Given the description of an element on the screen output the (x, y) to click on. 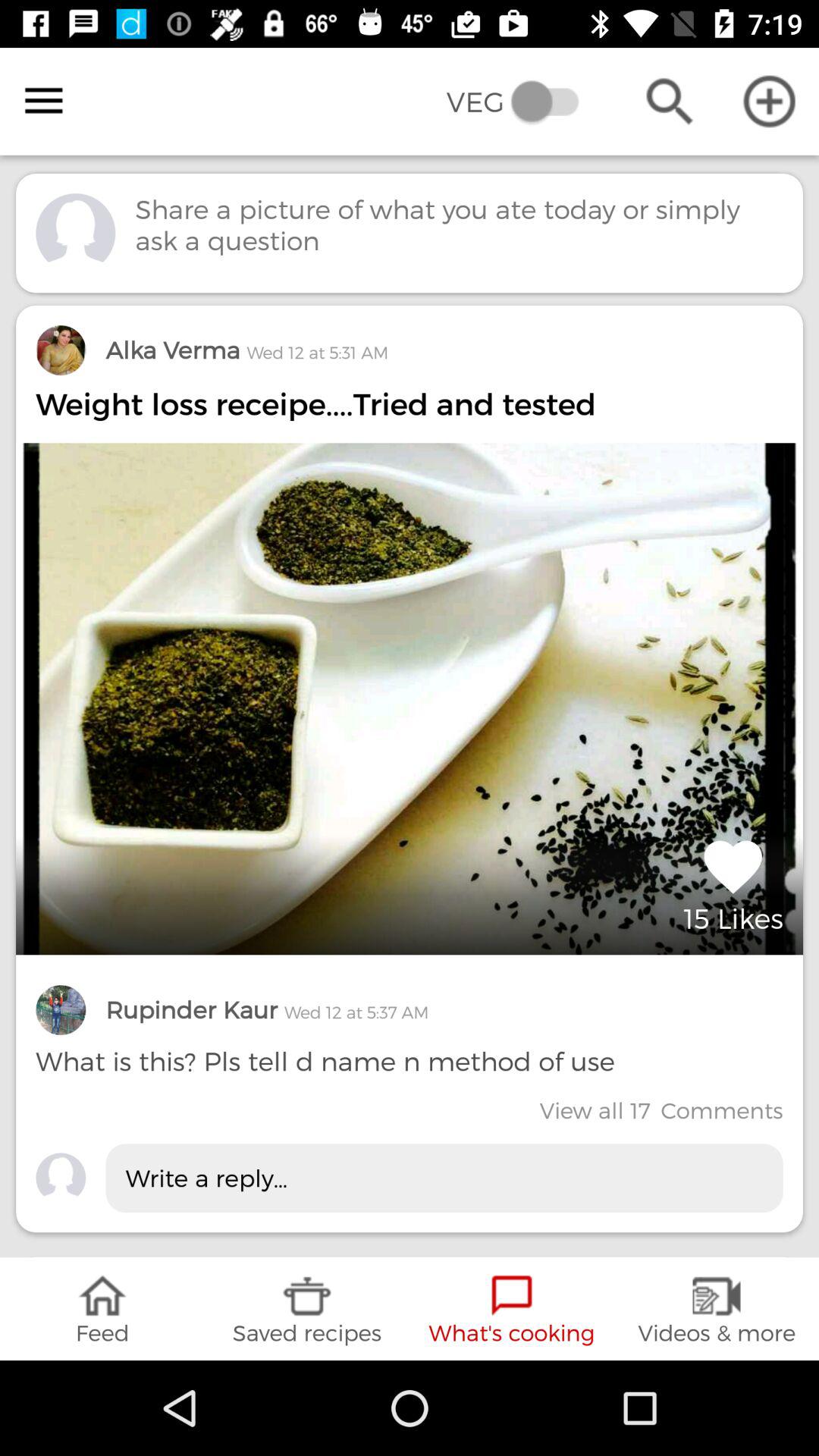
turn on icon to the left of the what's cooking (306, 1308)
